Given the description of an element on the screen output the (x, y) to click on. 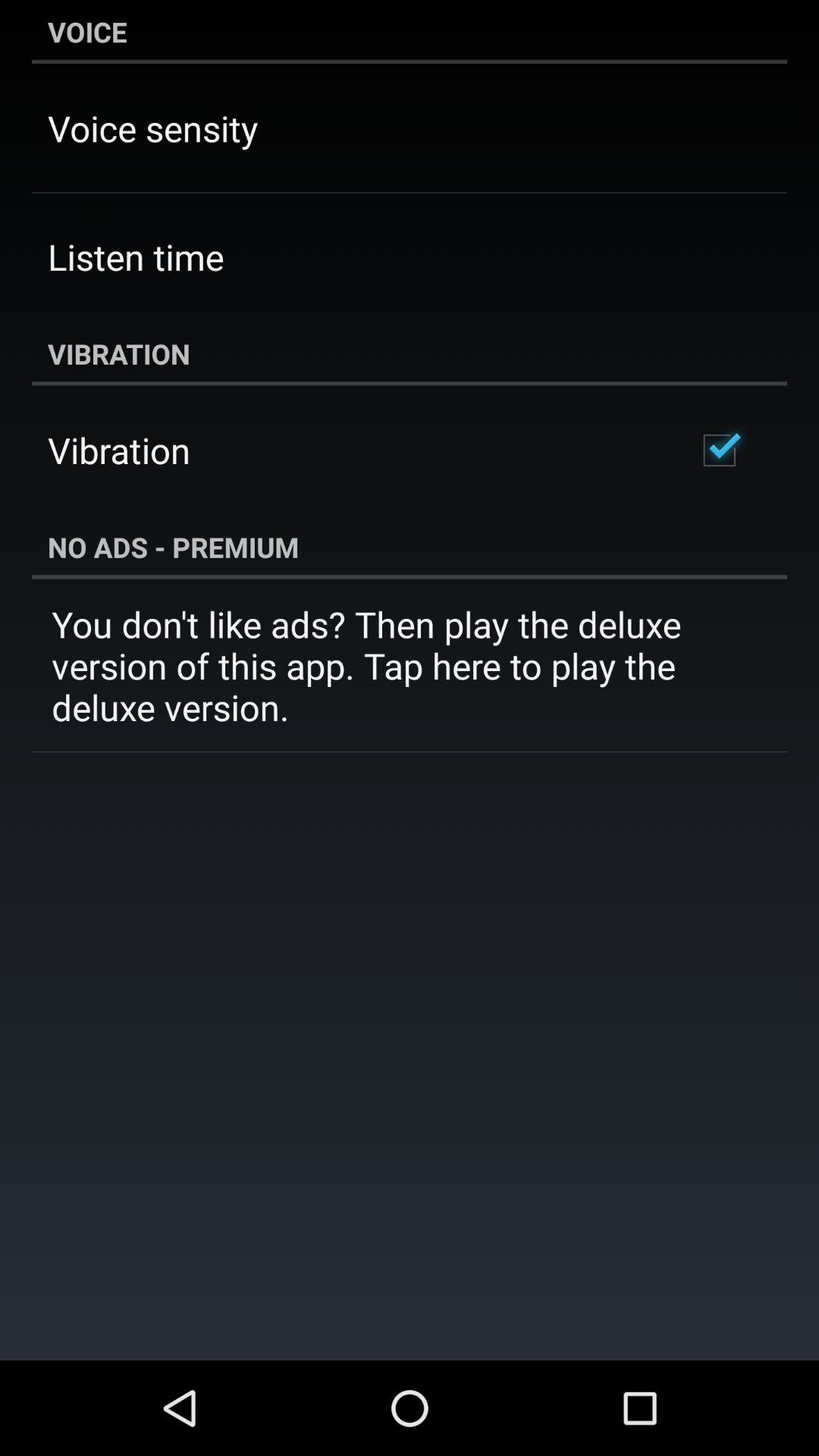
click the checkbox at the top right corner (719, 450)
